Given the description of an element on the screen output the (x, y) to click on. 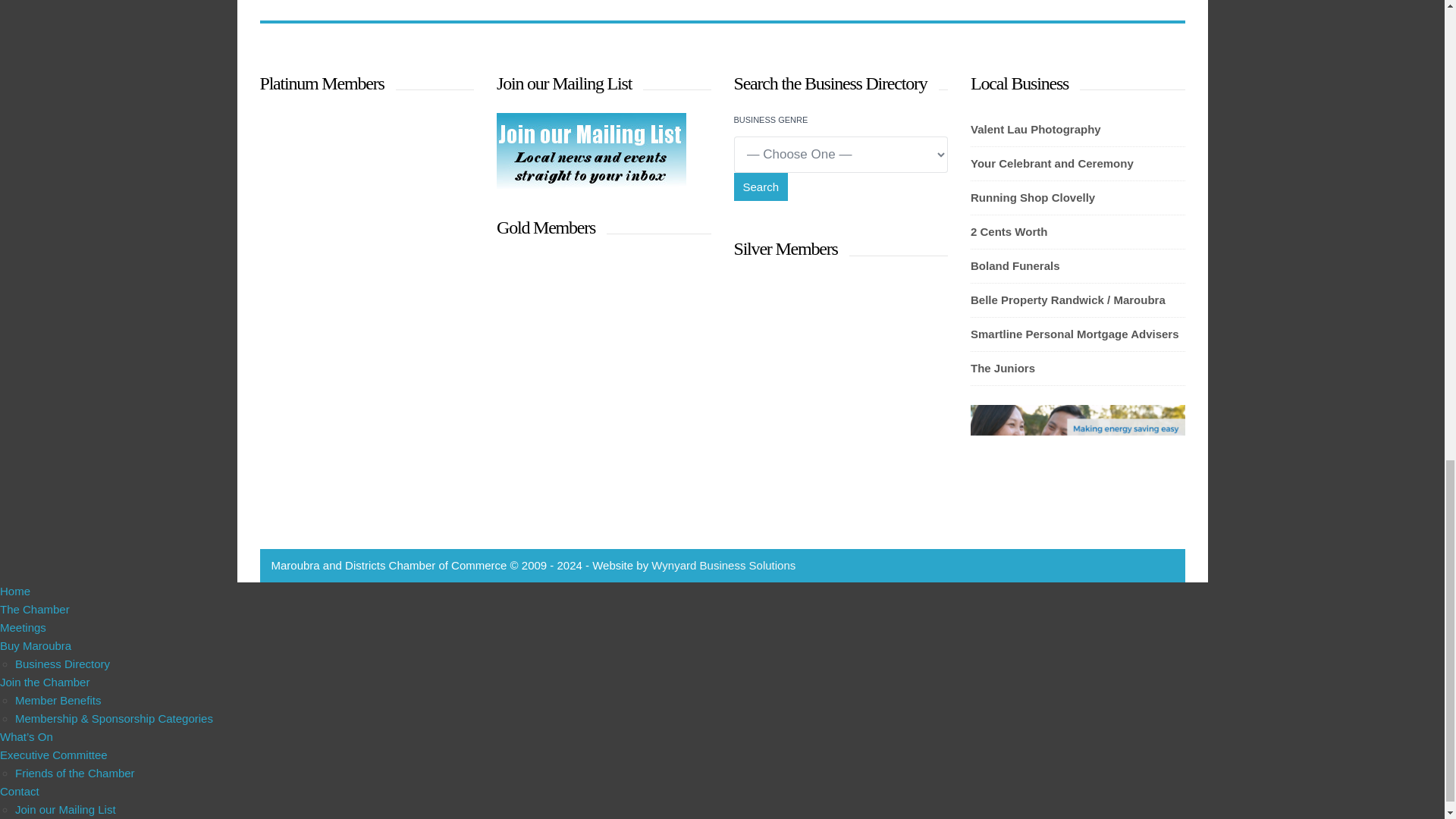
Join our Mailing List (590, 184)
Search (761, 186)
Search (761, 186)
